Given the description of an element on the screen output the (x, y) to click on. 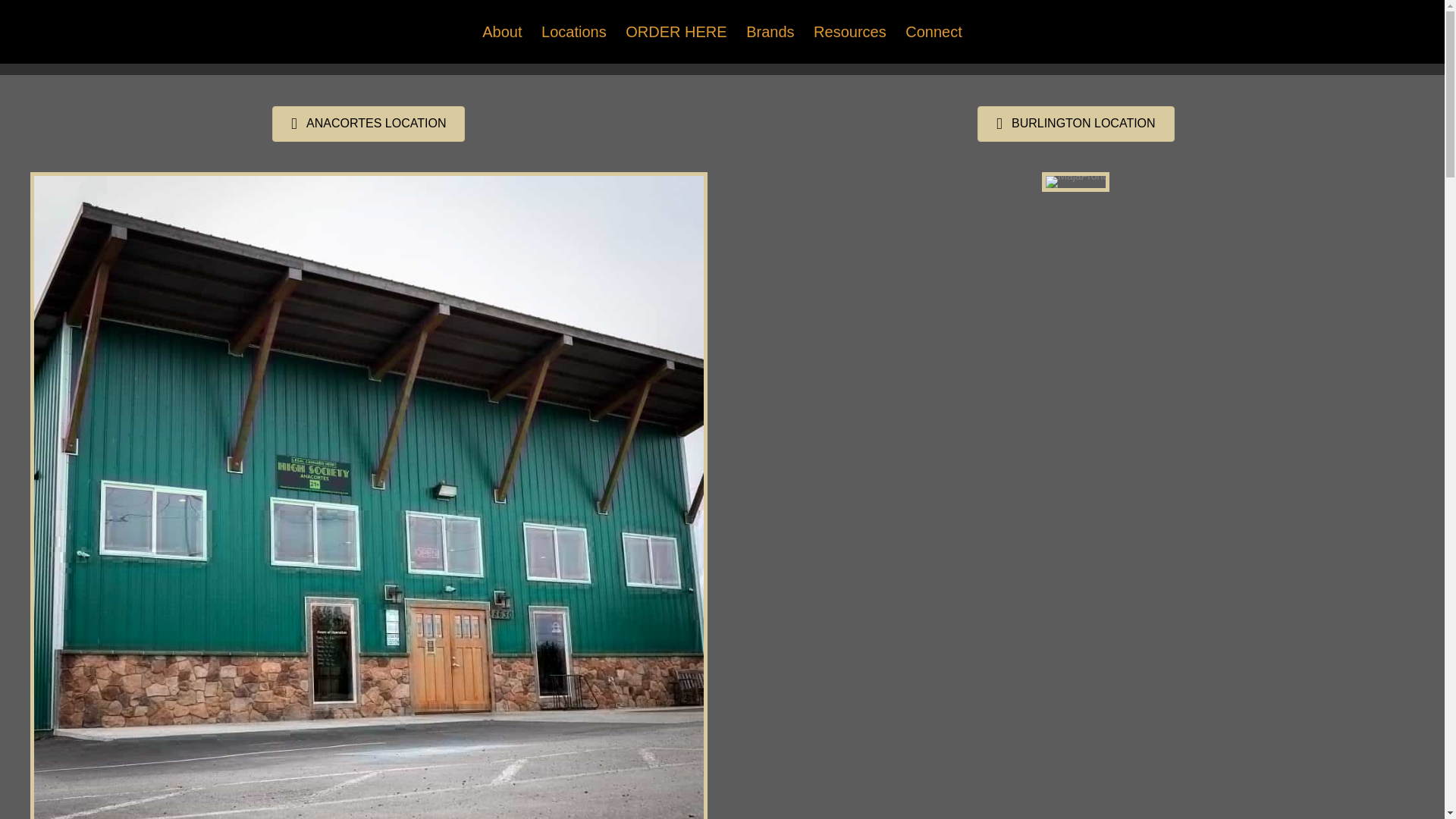
ORDER HERE (675, 31)
Connect (933, 31)
Brands (770, 31)
Resources (849, 31)
Locations (574, 31)
MajaFront (1075, 181)
ANACORTES LOCATION (368, 123)
BURLINGTON LOCATION (1075, 123)
About (501, 31)
